Given the description of an element on the screen output the (x, y) to click on. 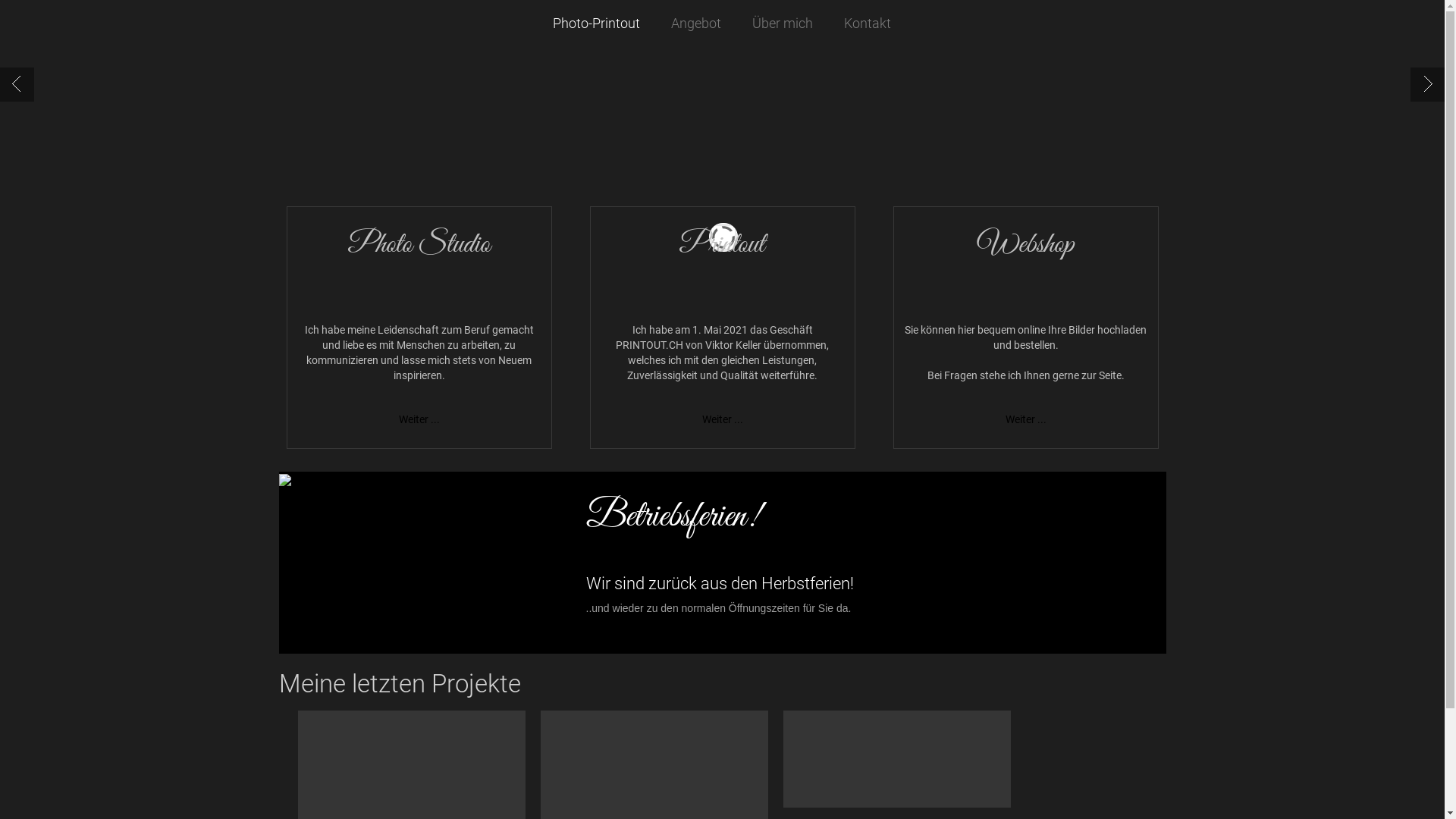
Angebot Element type: text (695, 23)
Weiter ... Element type: text (722, 419)
Kontakt Element type: text (867, 23)
Weiter ... Element type: text (419, 419)
Weiter ... Element type: text (1025, 419)
Photo-Printout Element type: text (596, 23)
